Given the description of an element on the screen output the (x, y) to click on. 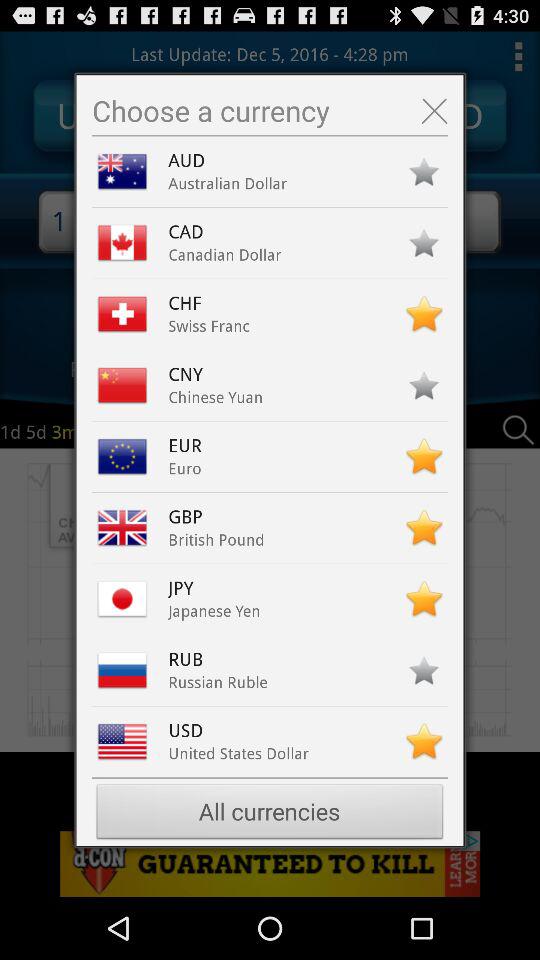
open the app below swiss franc icon (189, 374)
